Given the description of an element on the screen output the (x, y) to click on. 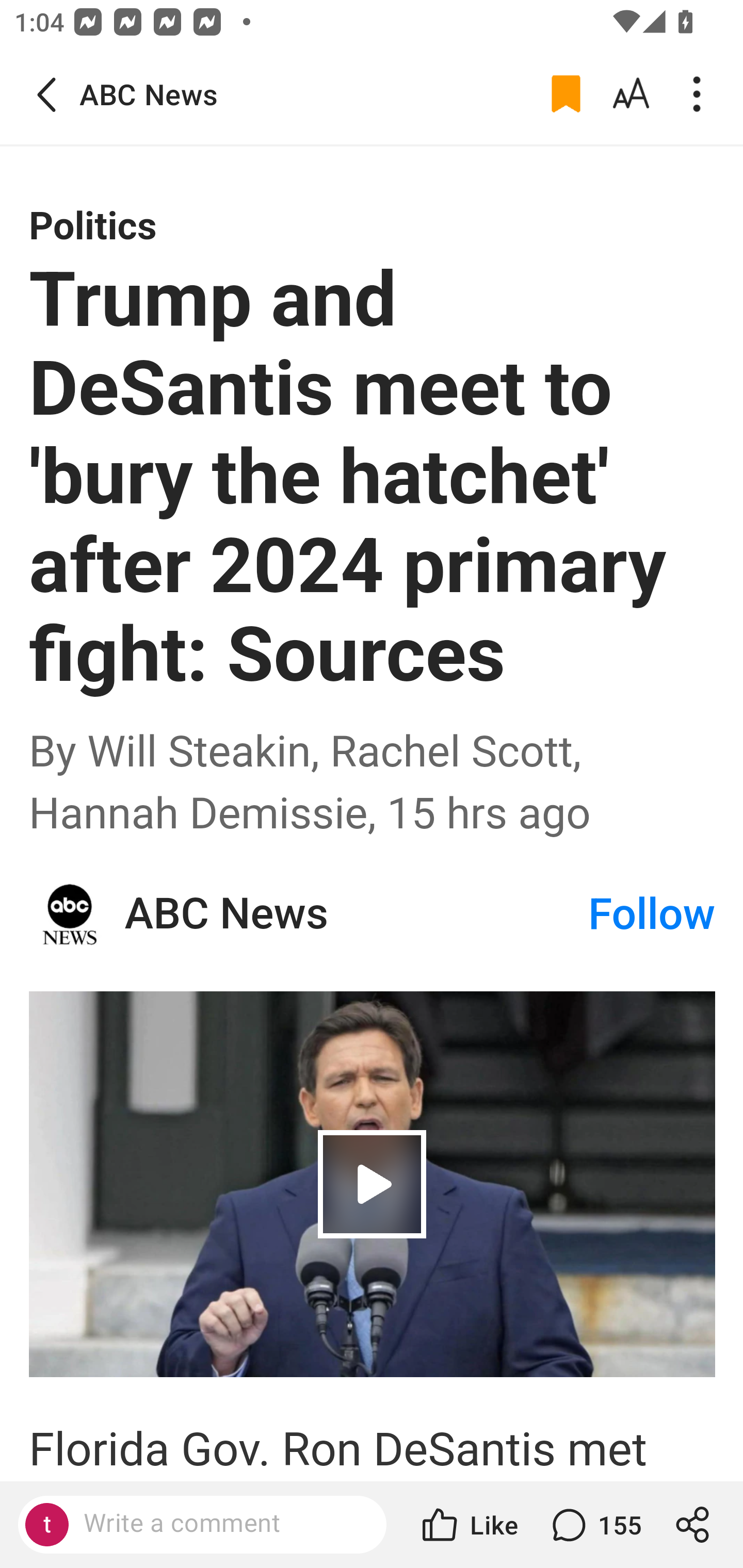
ABC (70, 913)
ABC News (355, 913)
Follow (651, 913)
Play Video (372, 1182)
Like (468, 1524)
155 (594, 1524)
Write a comment (201, 1524)
Write a comment (219, 1523)
